Given the description of an element on the screen output the (x, y) to click on. 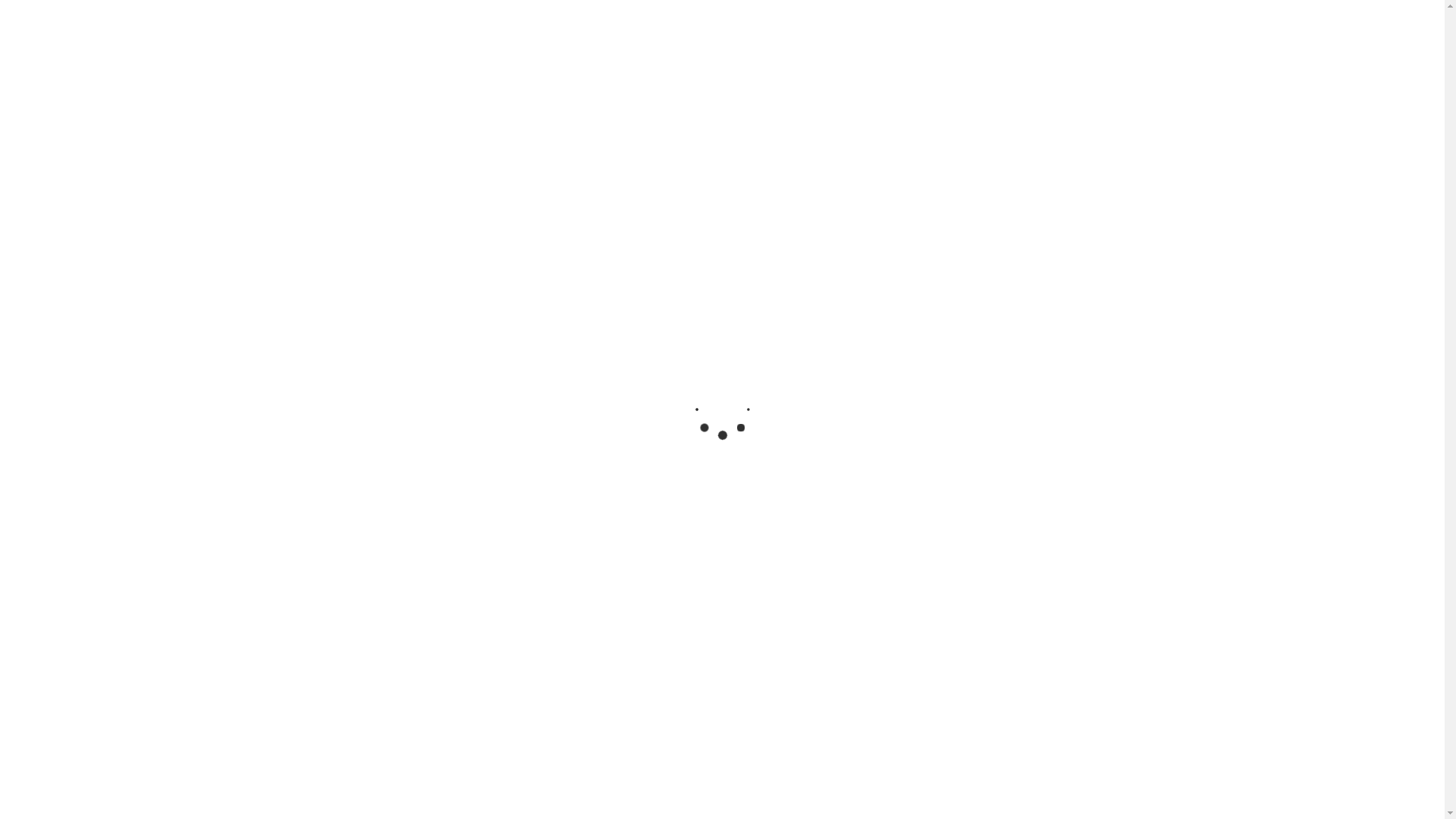
3-AUSVEG2015-women Element type: hover (345, 505)
LINKS Element type: text (980, 37)
monika@monikasorganics.com.au Element type: text (370, 626)
5-AUSVEG2016-women Element type: hover (592, 505)
2-AUSVEG2015-impact Element type: hover (837, 336)
CONTACT Element type: text (1148, 37)
ONLINE SHOP Element type: text (1238, 37)
1-AUSVEG2012-Finalist Element type: hover (592, 336)
0416 026 310 Element type: text (293, 568)
CERTIFICATES Element type: text (763, 37)
NEWS Element type: text (845, 37)
2.2new ribbon AWARD-page-001 Element type: hover (592, 674)
4-AUSVEG2016-winner Element type: hover (345, 336)
ACO_Certificate Element type: hover (837, 505)
bridge-logo-footer-image-1 Element type: hover (632, 577)
HOME Element type: text (618, 37)
ABOUT Element type: text (679, 37)
Fresh-care-cert Element type: hover (345, 674)
DOWNLOADS Element type: text (1059, 37)
GALLERY Element type: text (913, 37)
